Given the description of an element on the screen output the (x, y) to click on. 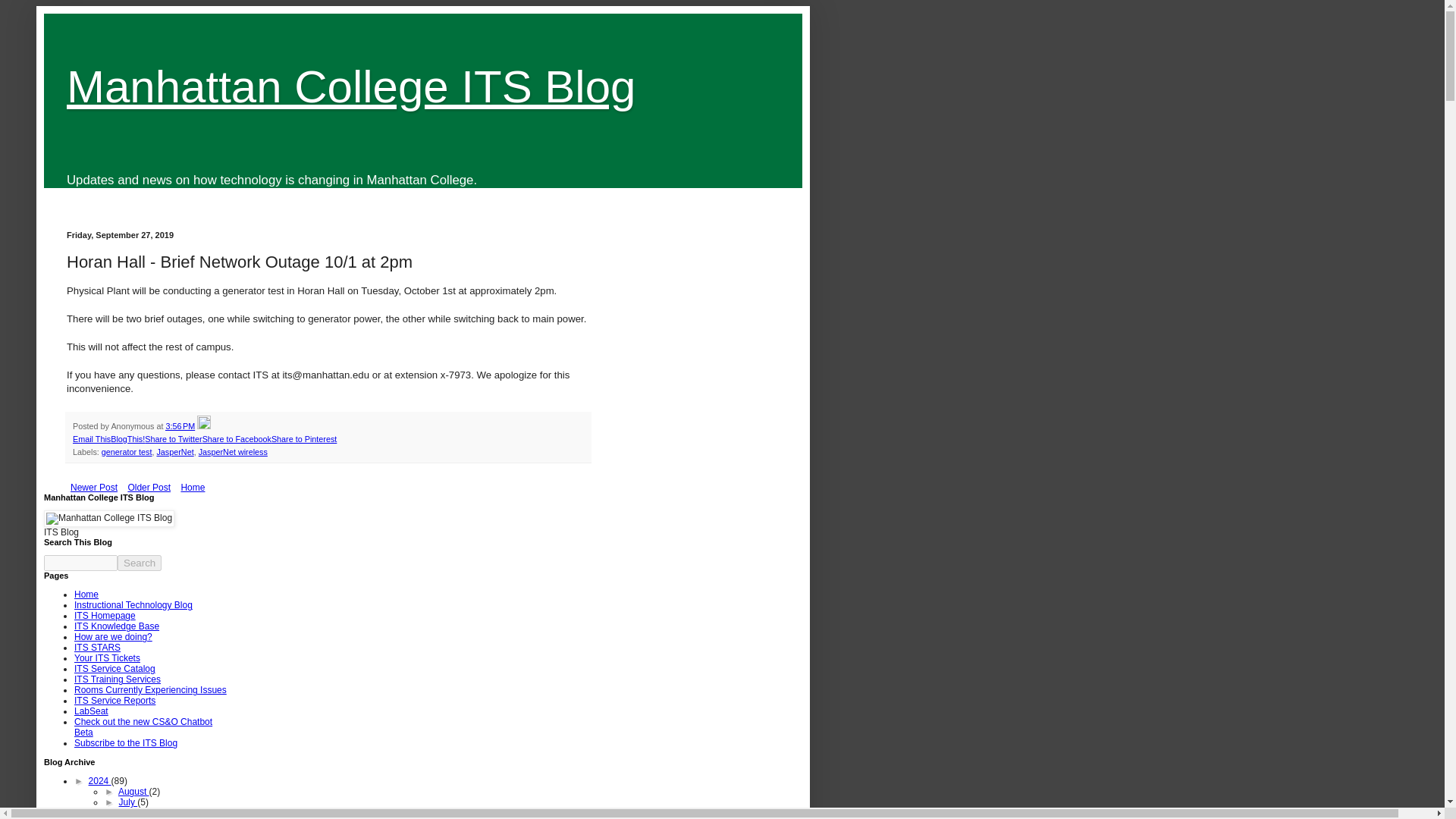
search (139, 562)
Share to Facebook (236, 438)
Edit Post (203, 425)
JasperNet wireless (232, 451)
JasperNet (174, 451)
Share to Twitter (173, 438)
Search (139, 562)
ITS STARS (97, 647)
ITS Homepage (104, 615)
